Given the description of an element on the screen output the (x, y) to click on. 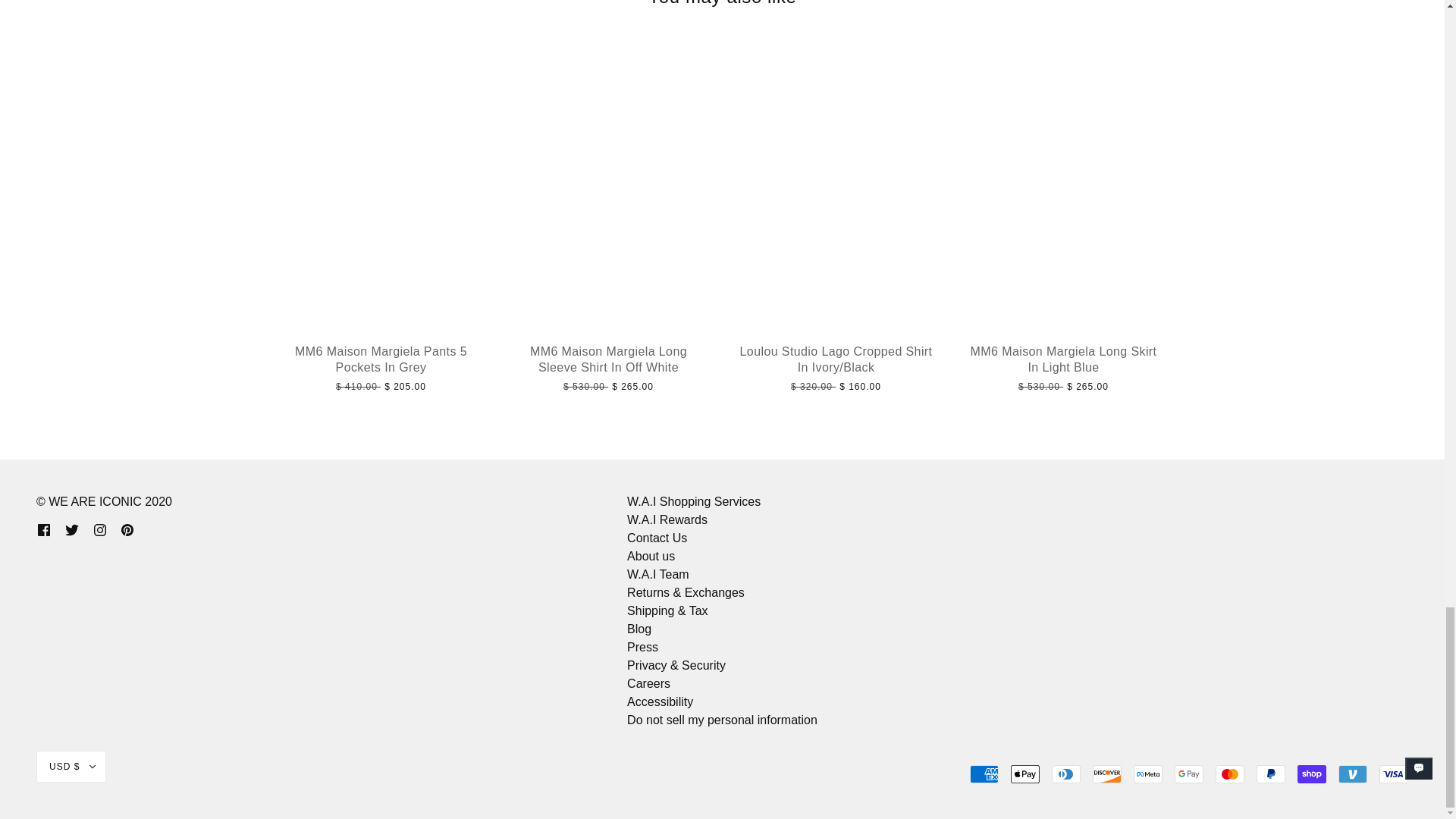
Mastercard (1229, 773)
Shop Pay (1311, 773)
Visa (1392, 773)
American Express (983, 773)
PayPal (1270, 773)
W.A.I Rewards (667, 519)
Apple Pay (1024, 773)
MM6 Maison Margiela Long Sleeve Shirt in Off White (608, 385)
Venmo (1352, 773)
Contact Us (657, 537)
